Given the description of an element on the screen output the (x, y) to click on. 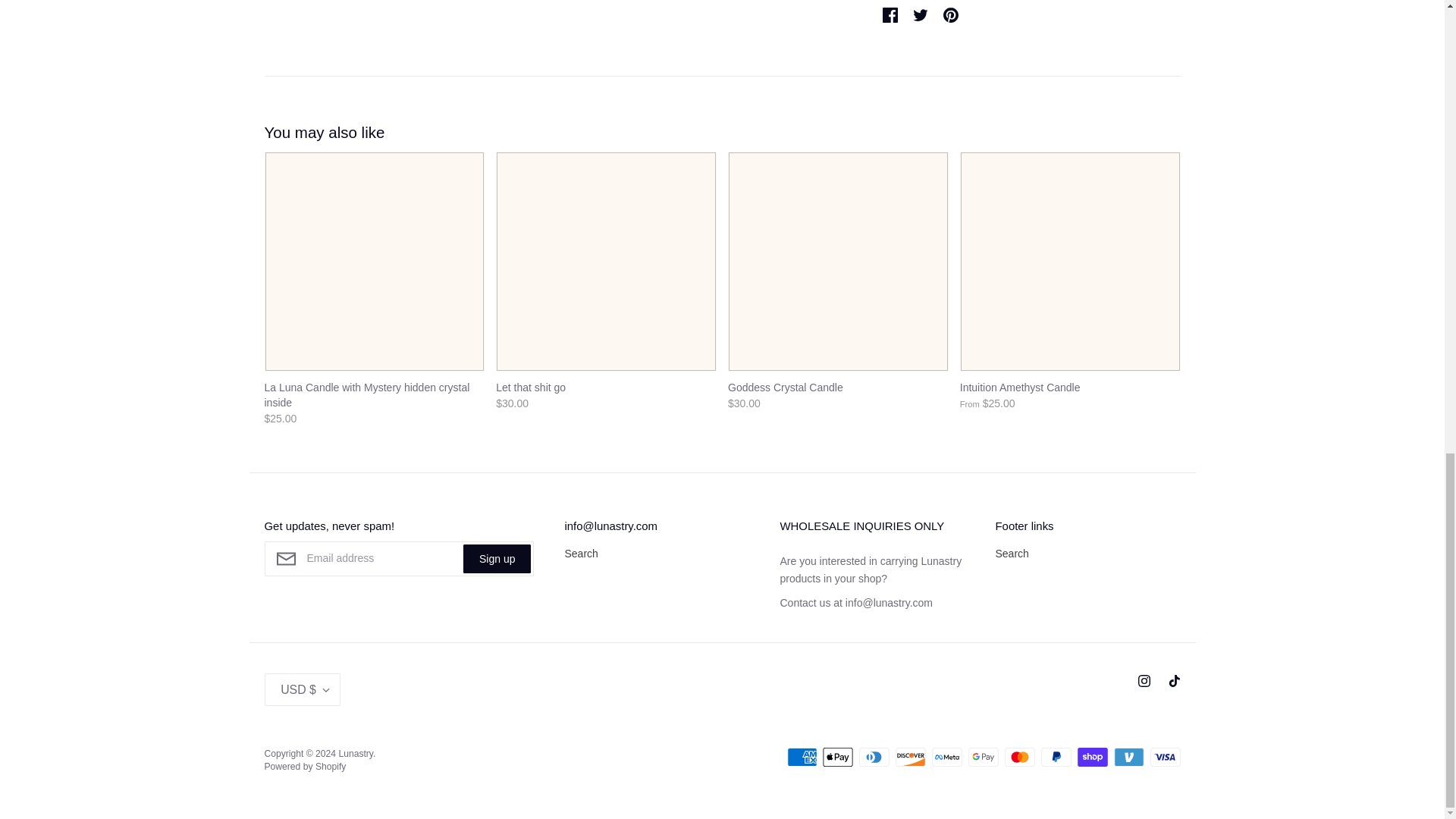
American Express (801, 756)
Discover (910, 756)
Apple Pay (837, 756)
Meta Pay (946, 756)
Diners Club (874, 756)
